Given the description of an element on the screen output the (x, y) to click on. 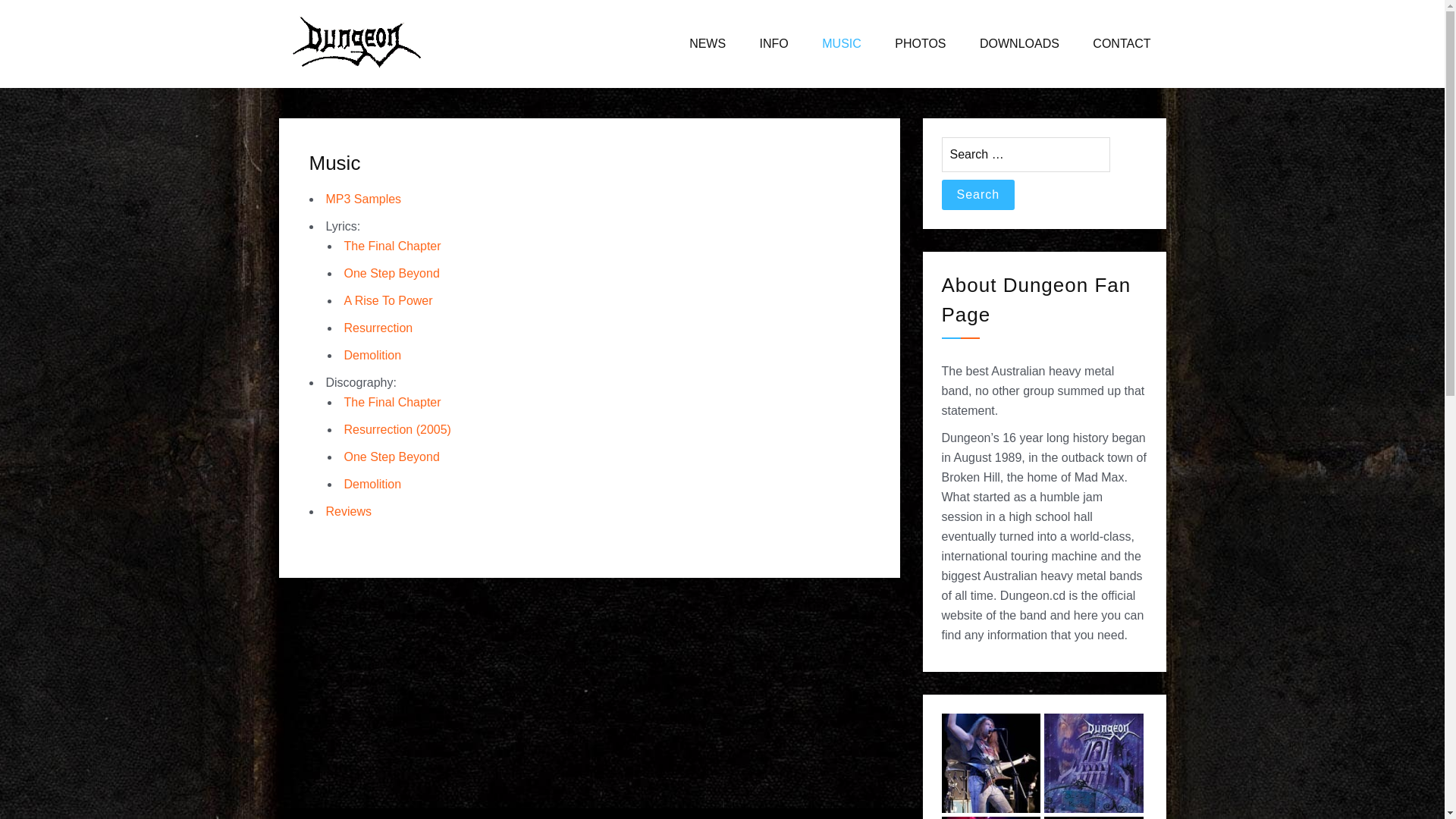
A Rise To Power Element type: text (388, 300)
The Final Chapter Element type: text (392, 401)
Demolition Element type: text (372, 483)
Demolition Element type: text (372, 354)
NEWS Element type: text (707, 43)
DOWNLOADS Element type: text (1019, 43)
Search Element type: text (978, 194)
One Step Beyond Element type: text (391, 272)
One Step Beyond Element type: text (391, 456)
MUSIC Element type: text (841, 43)
MP3 Samples Element type: text (363, 198)
CONTACT Element type: text (1121, 43)
Resurrection (2005) Element type: text (397, 429)
Resurrection Element type: text (378, 327)
PHOTOS Element type: text (919, 43)
Reviews Element type: text (348, 511)
INFO Element type: text (773, 43)
The Final Chapter Element type: text (392, 245)
